Given the description of an element on the screen output the (x, y) to click on. 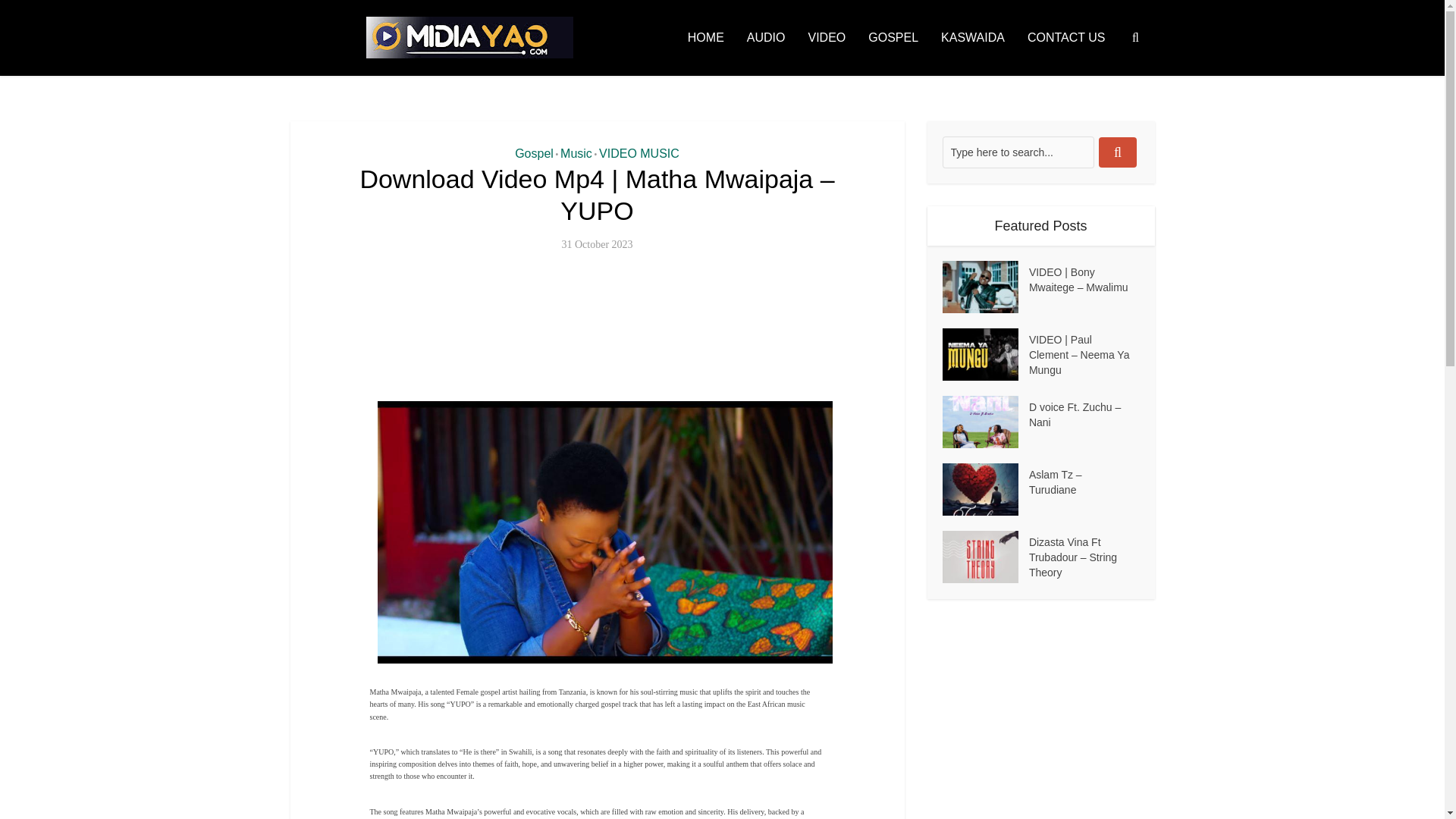
KASWAIDA (973, 38)
VIDEO MUSIC (638, 153)
GOSPEL (893, 38)
CONTACT US (1066, 38)
Gospel (534, 153)
Music (576, 153)
Type here to search... (1017, 152)
Type here to search... (1017, 152)
